Given the description of an element on the screen output the (x, y) to click on. 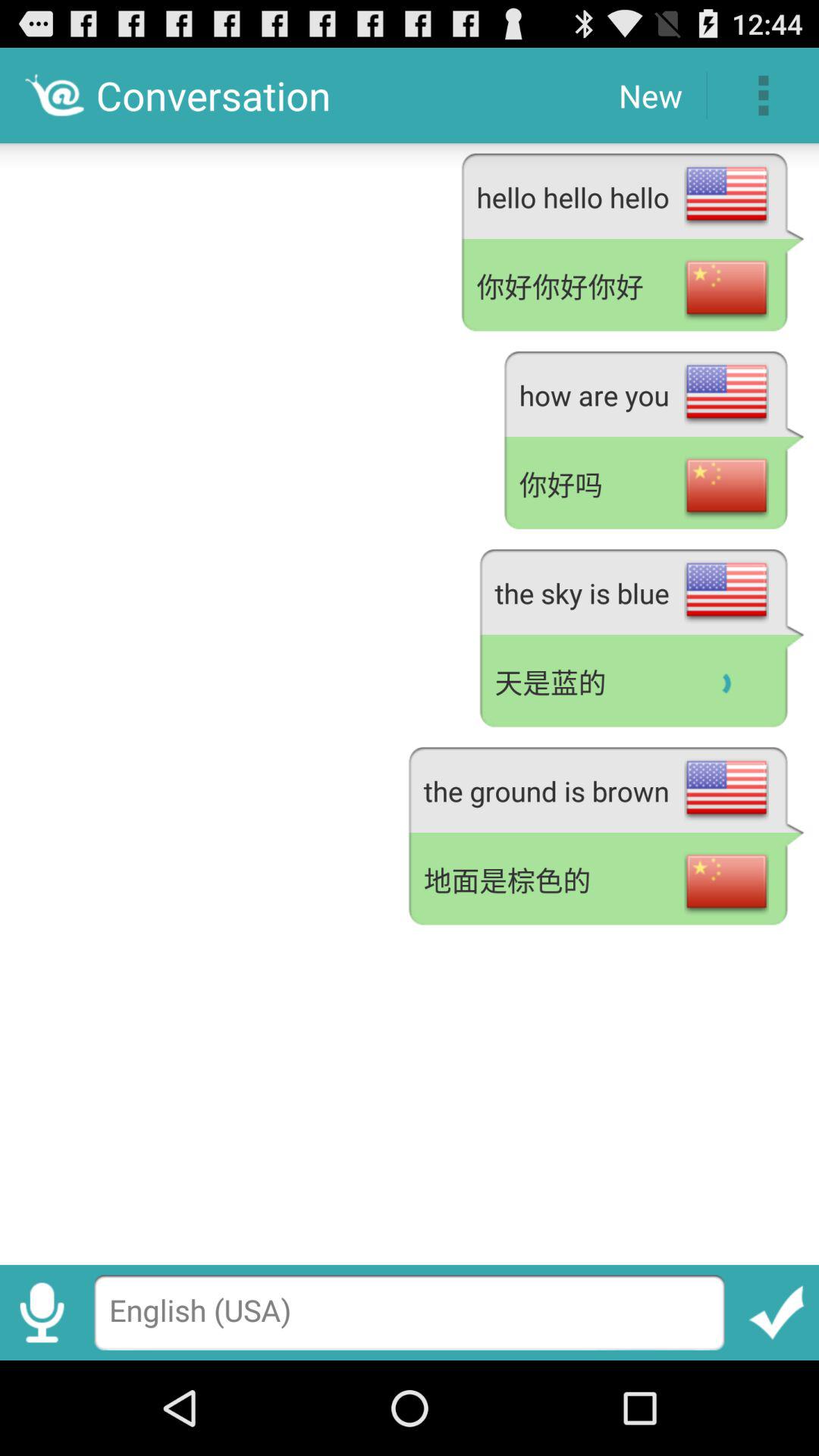
open icon below the hello hello hello (632, 287)
